Given the description of an element on the screen output the (x, y) to click on. 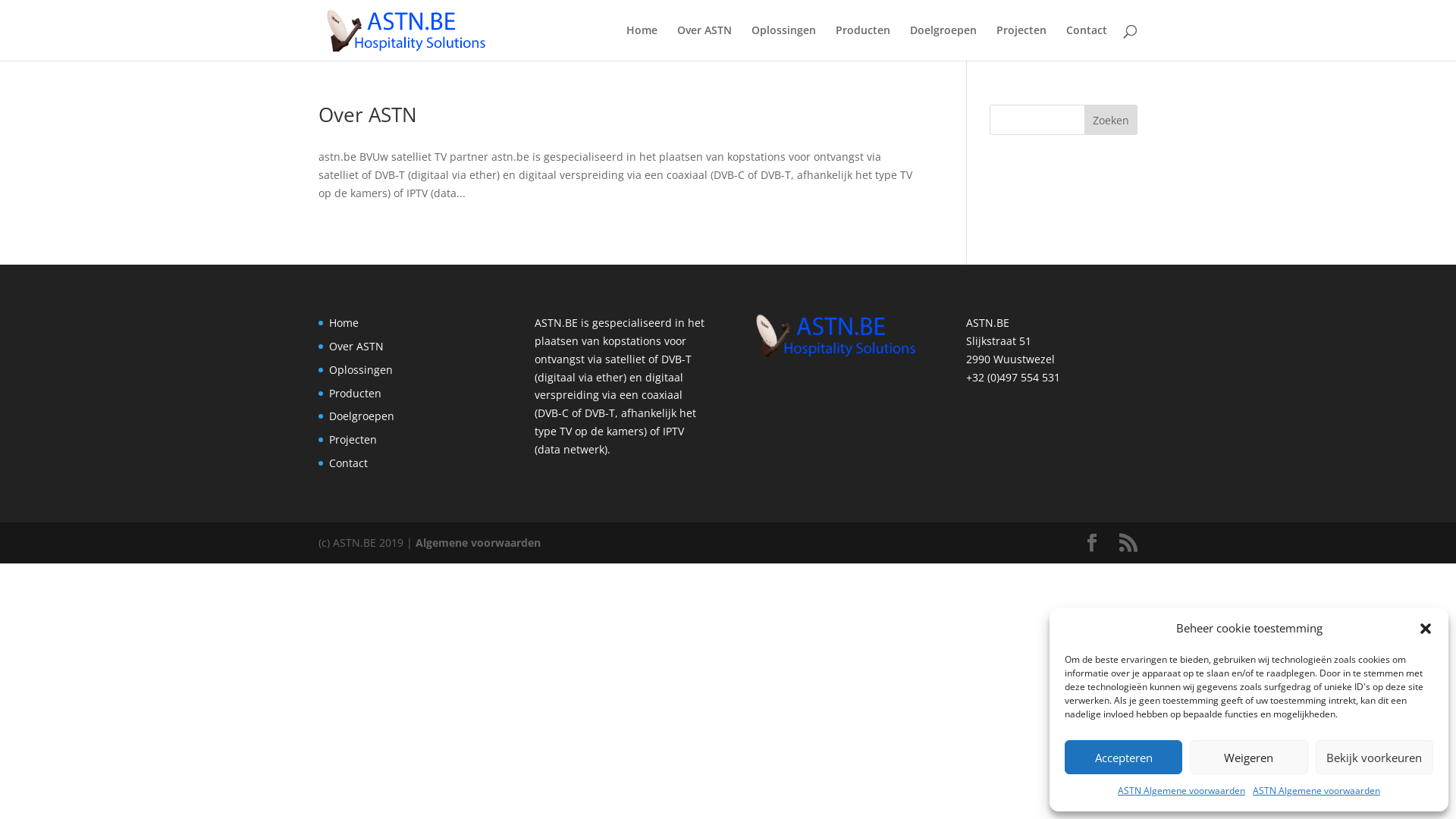
Producten Element type: text (355, 392)
ASTN Algemene voorwaarden Element type: text (1316, 790)
Home Element type: text (343, 322)
Over ASTN Element type: text (367, 114)
Projecten Element type: text (352, 439)
Contact Element type: text (348, 462)
Zoeken Element type: text (1110, 119)
Bekijk voorkeuren Element type: text (1374, 757)
Home Element type: text (641, 42)
Accepteren Element type: text (1123, 757)
Algemene voorwaarden Element type: text (477, 542)
Producten Element type: text (862, 42)
Weigeren Element type: text (1248, 757)
ASTN Algemene voorwaarden Element type: text (1181, 790)
Over ASTN Element type: text (704, 42)
Oplossingen Element type: text (783, 42)
Projecten Element type: text (1021, 42)
Doelgroepen Element type: text (361, 415)
Oplossingen Element type: text (360, 369)
Contact Element type: text (1086, 42)
Over ASTN Element type: text (356, 345)
Doelgroepen Element type: text (943, 42)
